Given the description of an element on the screen output the (x, y) to click on. 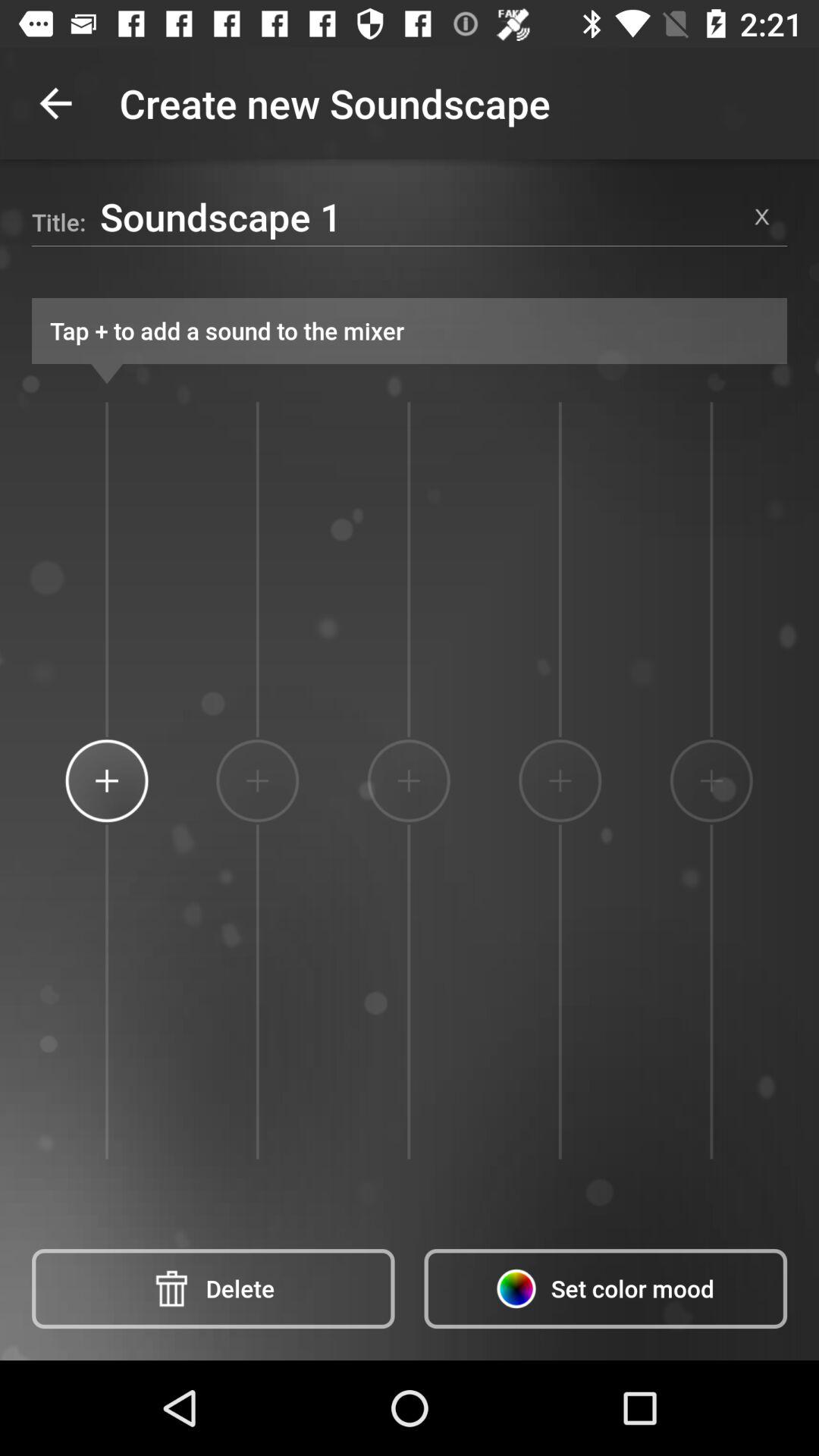
exit soundscape (762, 216)
